Given the description of an element on the screen output the (x, y) to click on. 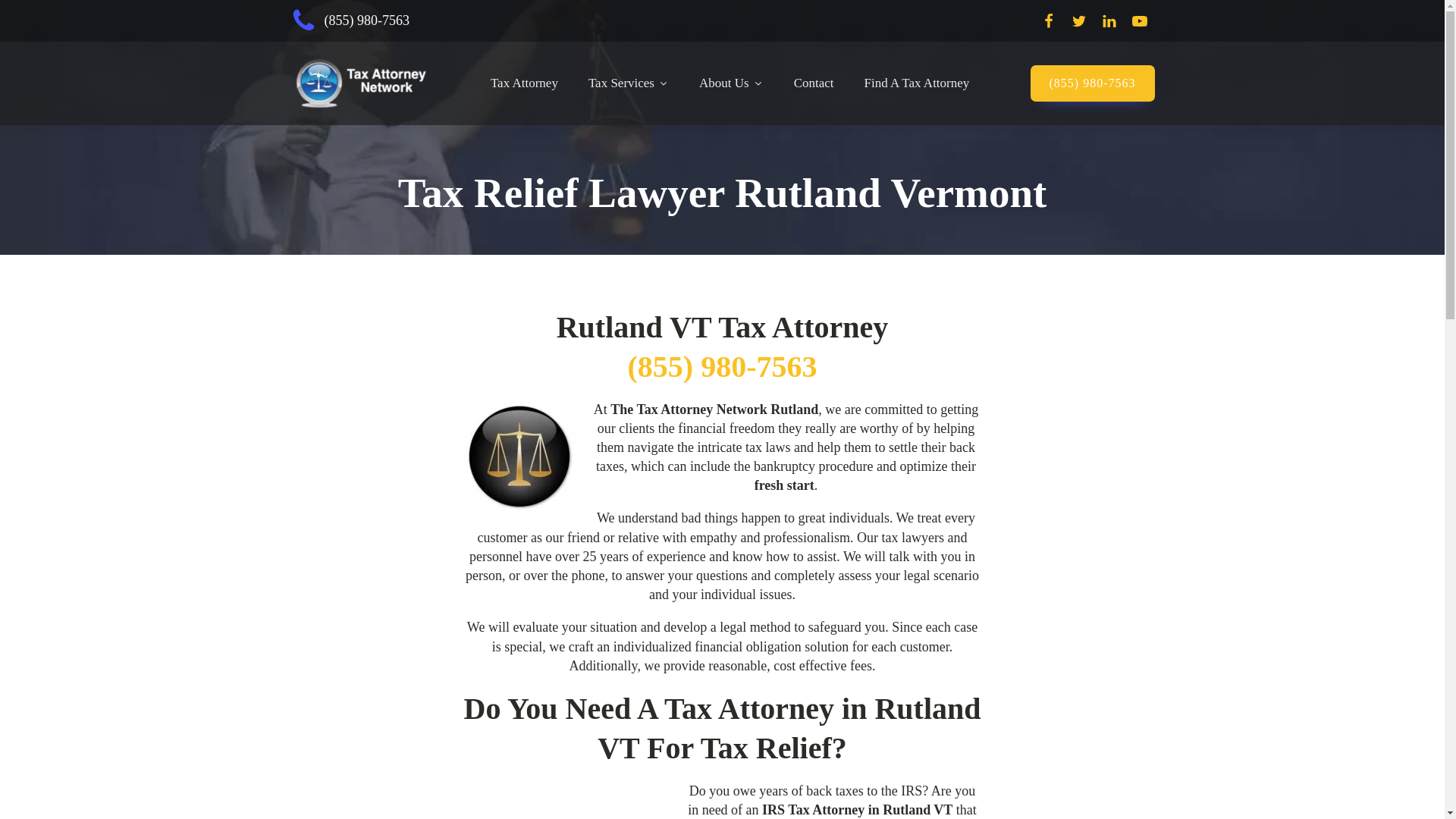
Contact (813, 83)
Find A Tax Attorney (916, 83)
Tax Attorney (524, 83)
Tax Services (628, 83)
About Us (731, 83)
